Given the description of an element on the screen output the (x, y) to click on. 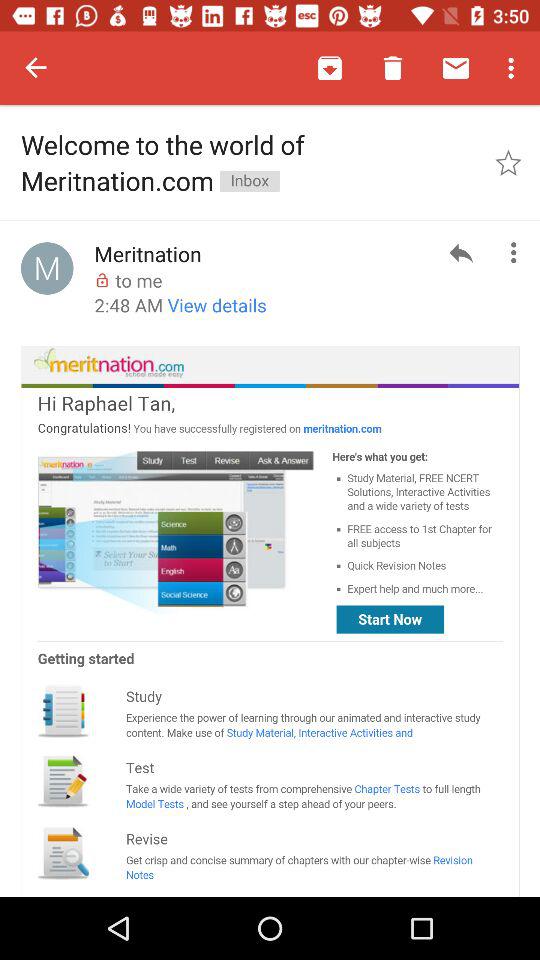
click on the fourth option from the right (330, 68)
click on icon left to meritnation (47, 267)
click on the menu icon at the top right corner of the page (514, 68)
the delete icon left to message icon shown on the top of the page (392, 68)
